Given the description of an element on the screen output the (x, y) to click on. 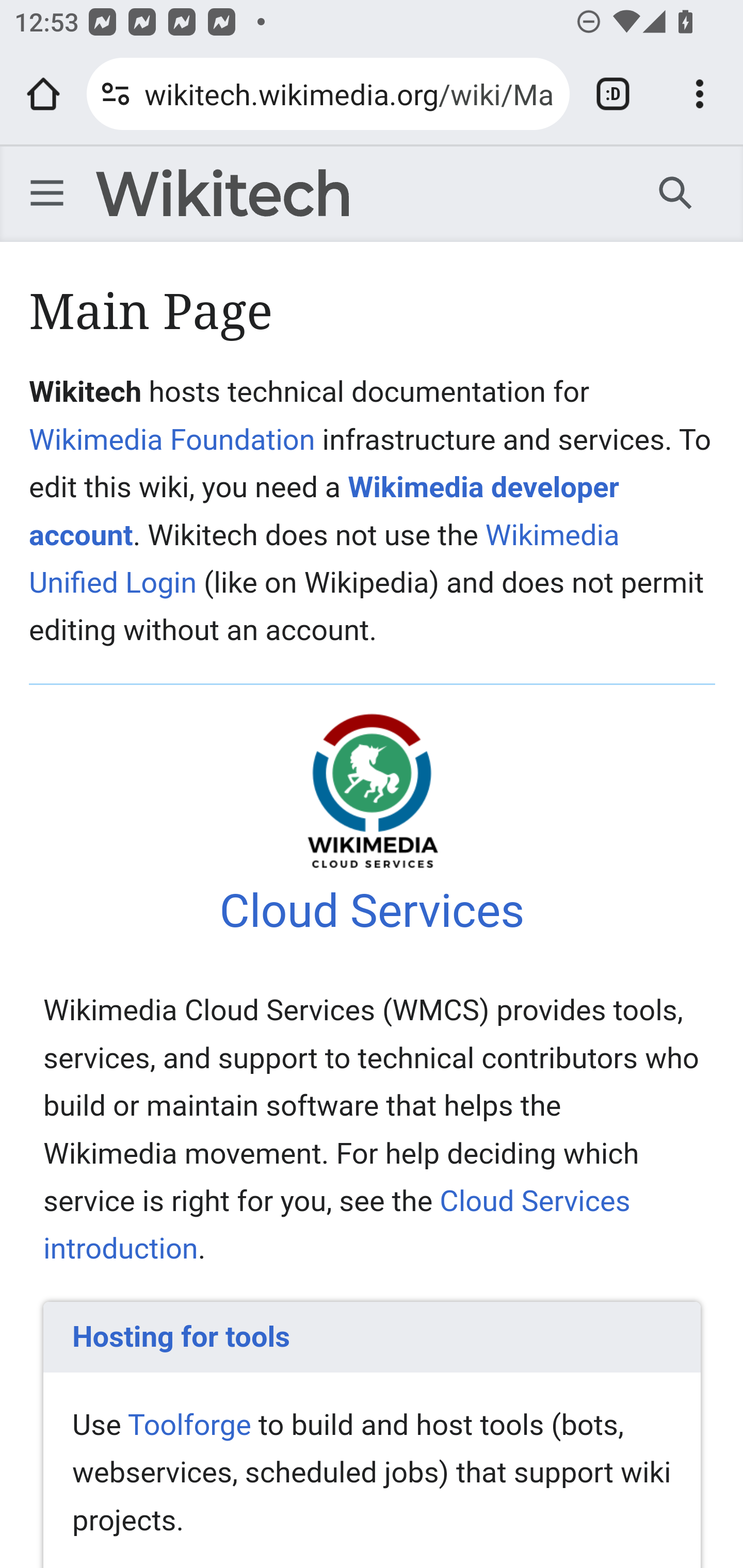
Open the home page (43, 93)
Connection is secure (115, 93)
Switch or close tabs (612, 93)
Customize and control Google Chrome (699, 93)
wikitech.wikimedia.org/wiki/Main_Page (349, 92)
Search (676, 192)
Wikitech (221, 192)
Wikimedia Foundation (171, 439)
Wikimedia developer account (324, 510)
Wikimedia Unified Login (324, 557)
Introduction (372, 790)
Cloud Services (371, 910)
Cloud Services introduction (337, 1224)
Hosting for tools (372, 1336)
Toolforge (189, 1424)
